Given the description of an element on the screen output the (x, y) to click on. 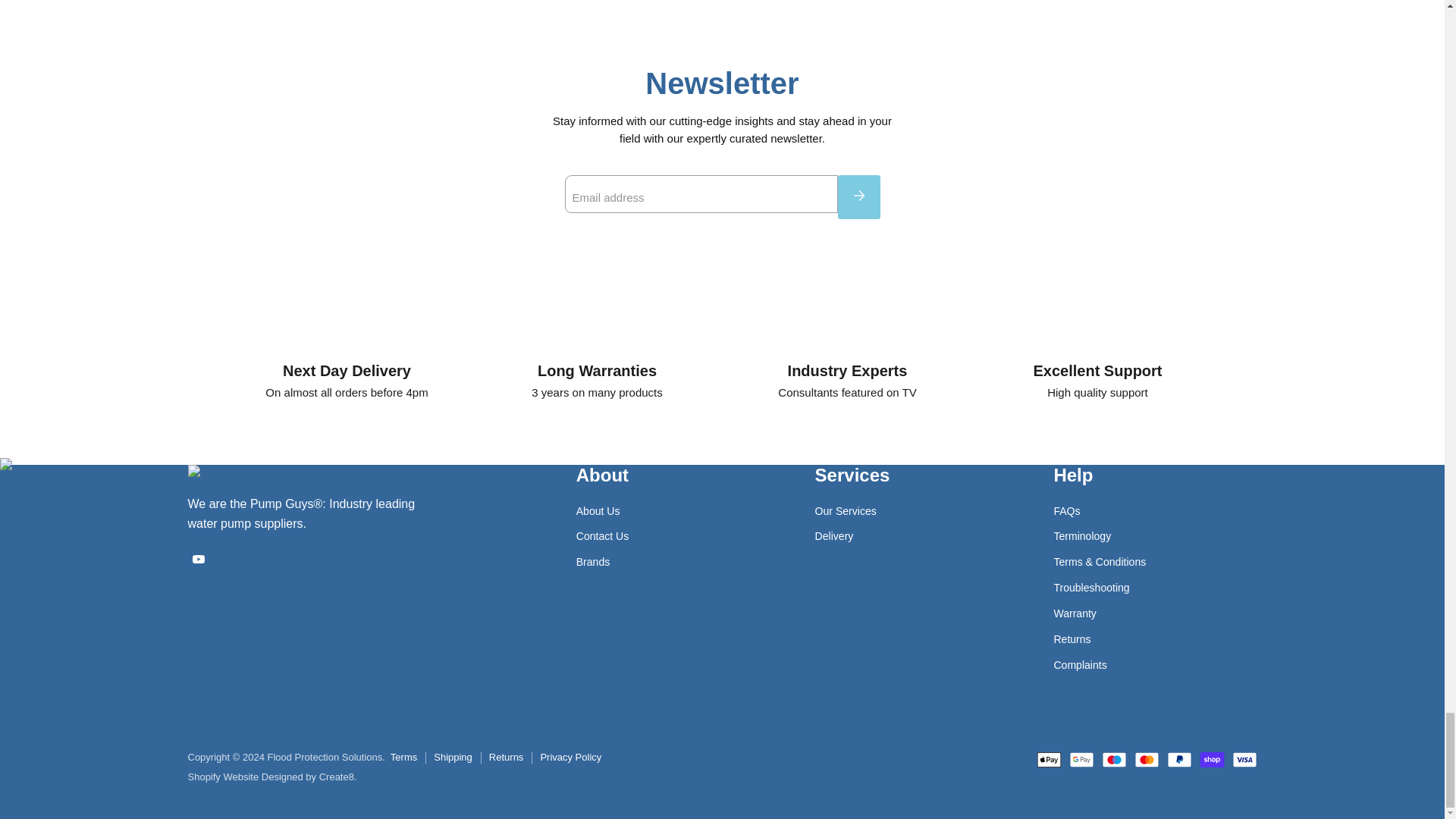
Maestro (1112, 759)
YouTube (198, 558)
Apple Pay (1048, 759)
Google Pay (1081, 759)
ARROW-RIGHT (857, 195)
